Given the description of an element on the screen output the (x, y) to click on. 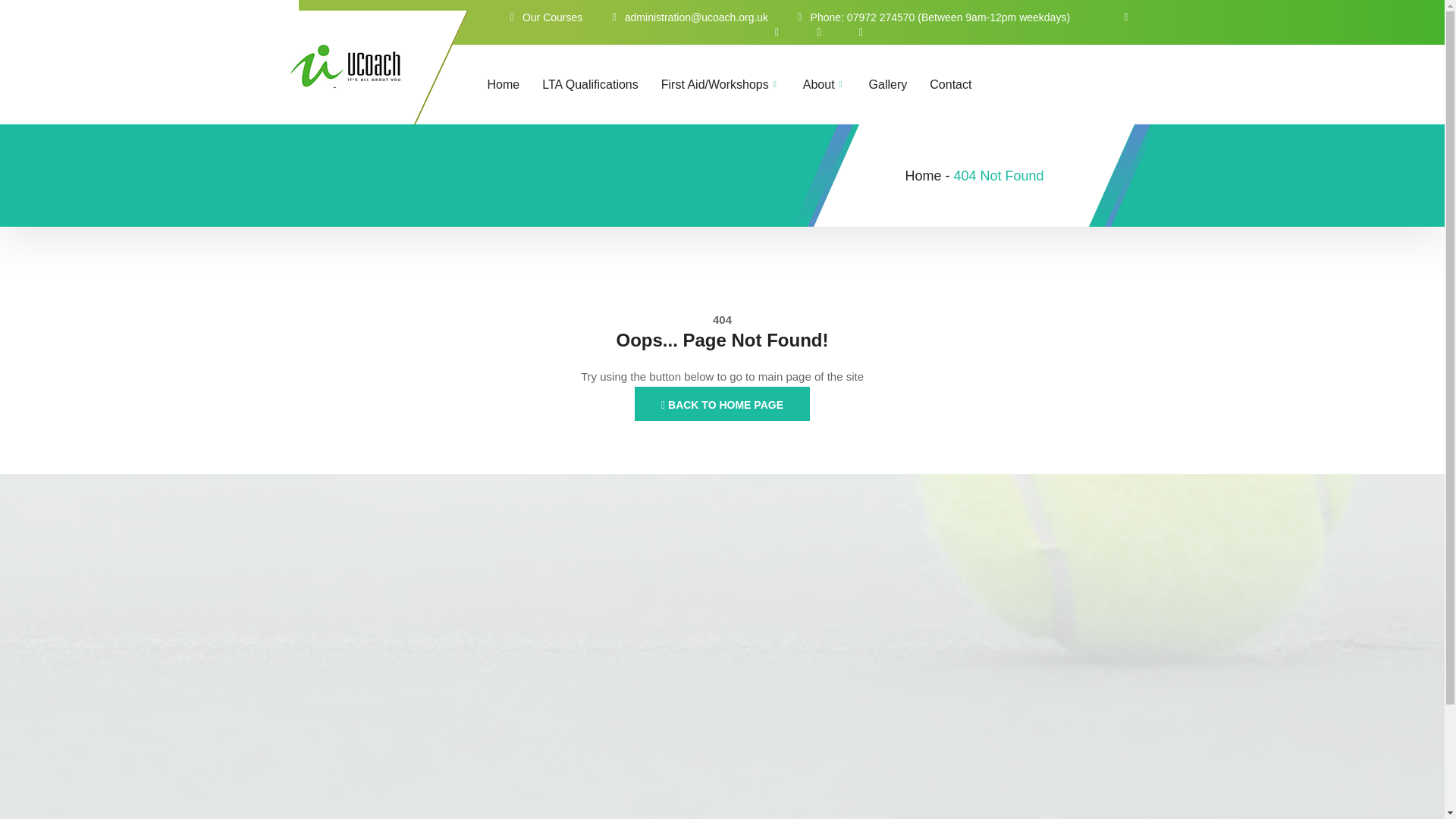
Our Courses (543, 17)
Home (922, 175)
Gallery (899, 84)
BACK TO HOME PAGE (721, 403)
About (836, 84)
LTA Qualifications (601, 84)
